Given the description of an element on the screen output the (x, y) to click on. 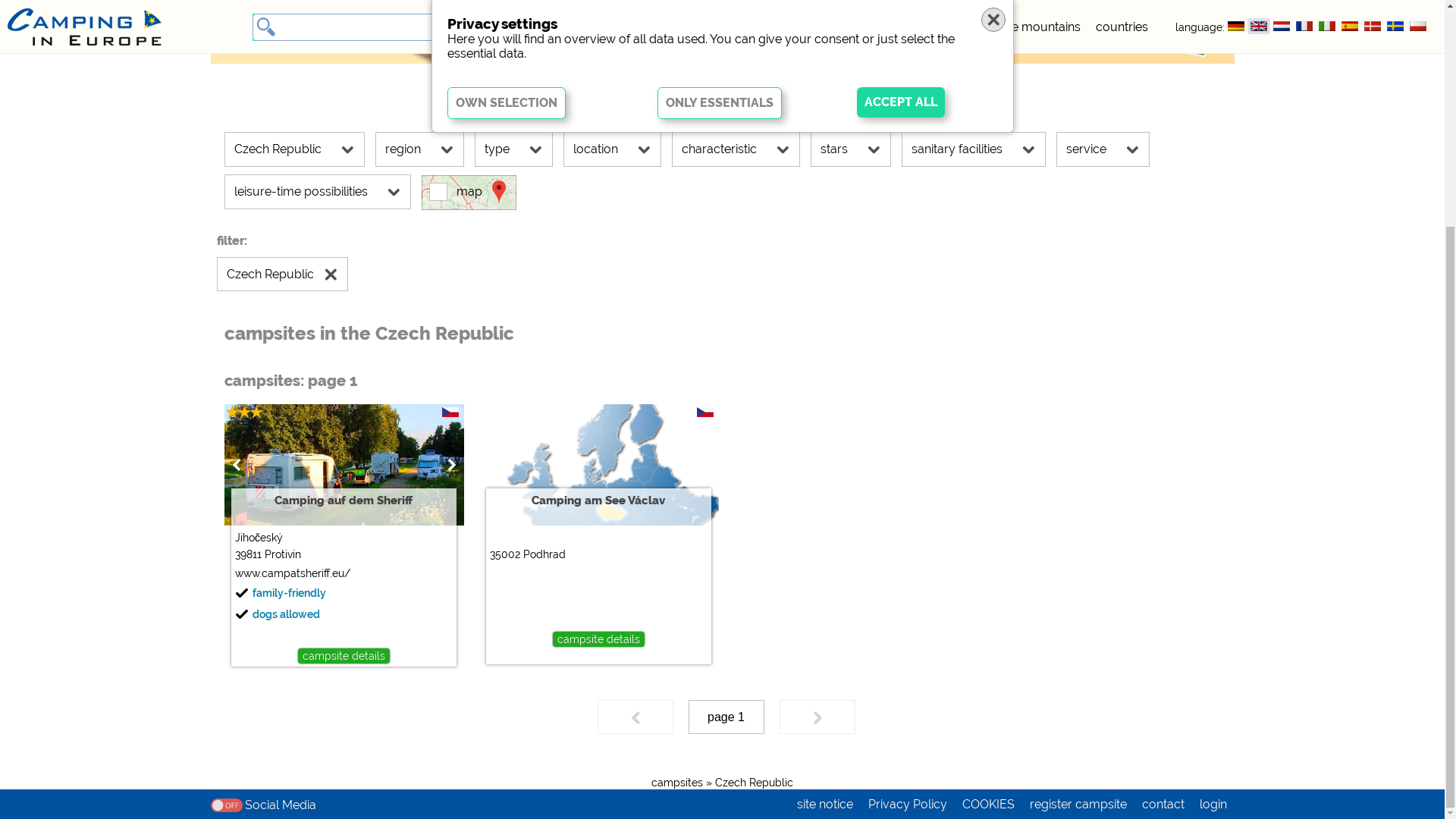
5 stars Element type: text (897, 330)
spanish Element type: hover (1349, 329)
Czech Republic Element type: hover (704, 715)
leisure-time possibilities Element type: text (317, 494)
type Element type: text (513, 452)
countries Element type: text (1121, 330)
Czech Republic Element type: hover (449, 715)
english Element type: hover (1258, 329)
sanitary facilities Element type: text (972, 452)
dutch Element type: hover (1281, 329)
french Element type: hover (1303, 329)
polish Element type: hover (1417, 329)
stars Element type: text (849, 452)
german Element type: hover (1235, 329)
      OK       Element type: text (34, 318)
characteristic Element type: text (735, 452)
service Element type: text (1101, 452)
in the mountains Element type: text (1034, 330)
Czech Republic Element type: text (294, 452)
swedish Element type: hover (1394, 329)
own selection Element type: text (506, 406)
seaside Element type: text (952, 330)
danish Element type: hover (1372, 329)
campsites Element type: text (834, 330)
italian Element type: hover (1326, 329)
Accept all Element type: text (900, 405)
region Element type: text (418, 452)
3 stars Element type: hover (255, 715)
location Element type: text (611, 452)
Czech Republic Element type: text (282, 577)
only essentials Element type: text (719, 406)
